Given the description of an element on the screen output the (x, y) to click on. 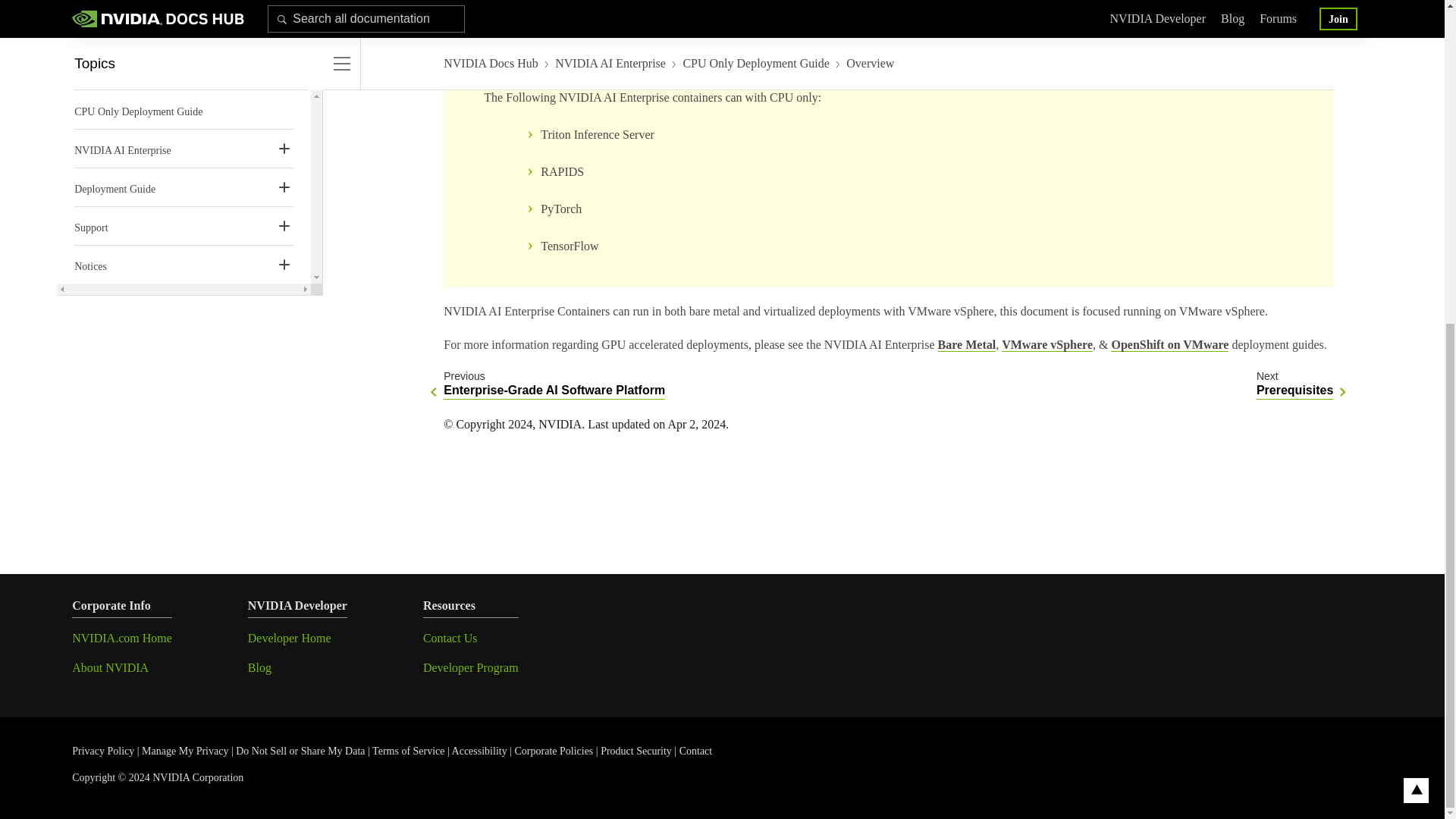
VMware vSphere (1294, 384)
Bare Metal (1047, 345)
OpenShift on VMware (966, 345)
